Given the description of an element on the screen output the (x, y) to click on. 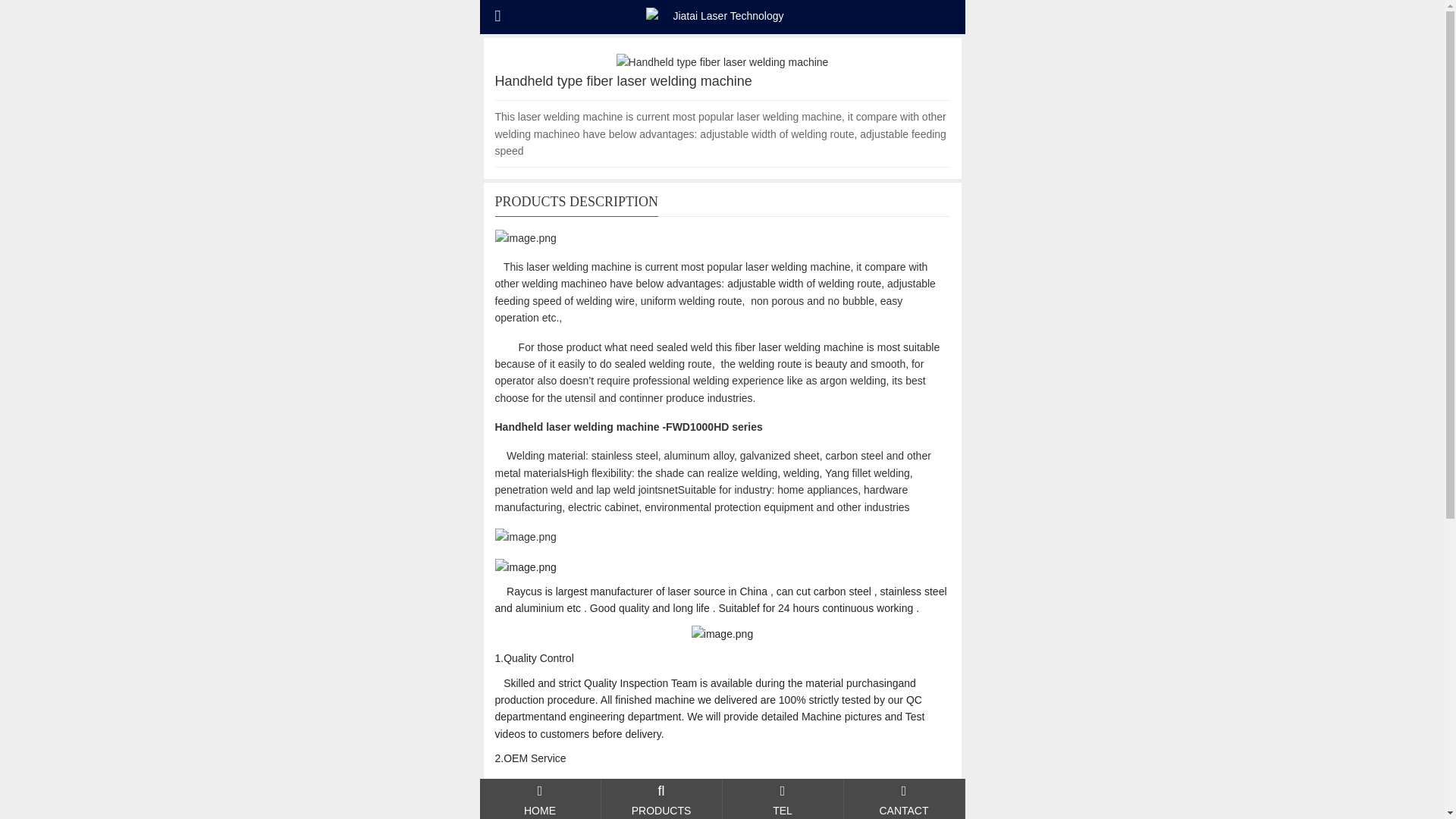
1661329749903237.png (525, 566)
TEL (659, 799)
CANTACT (782, 799)
1657762795940717.png (525, 238)
PRODUCTS (903, 799)
1661330056247604.png (721, 633)
HOME (539, 799)
